Given the description of an element on the screen output the (x, y) to click on. 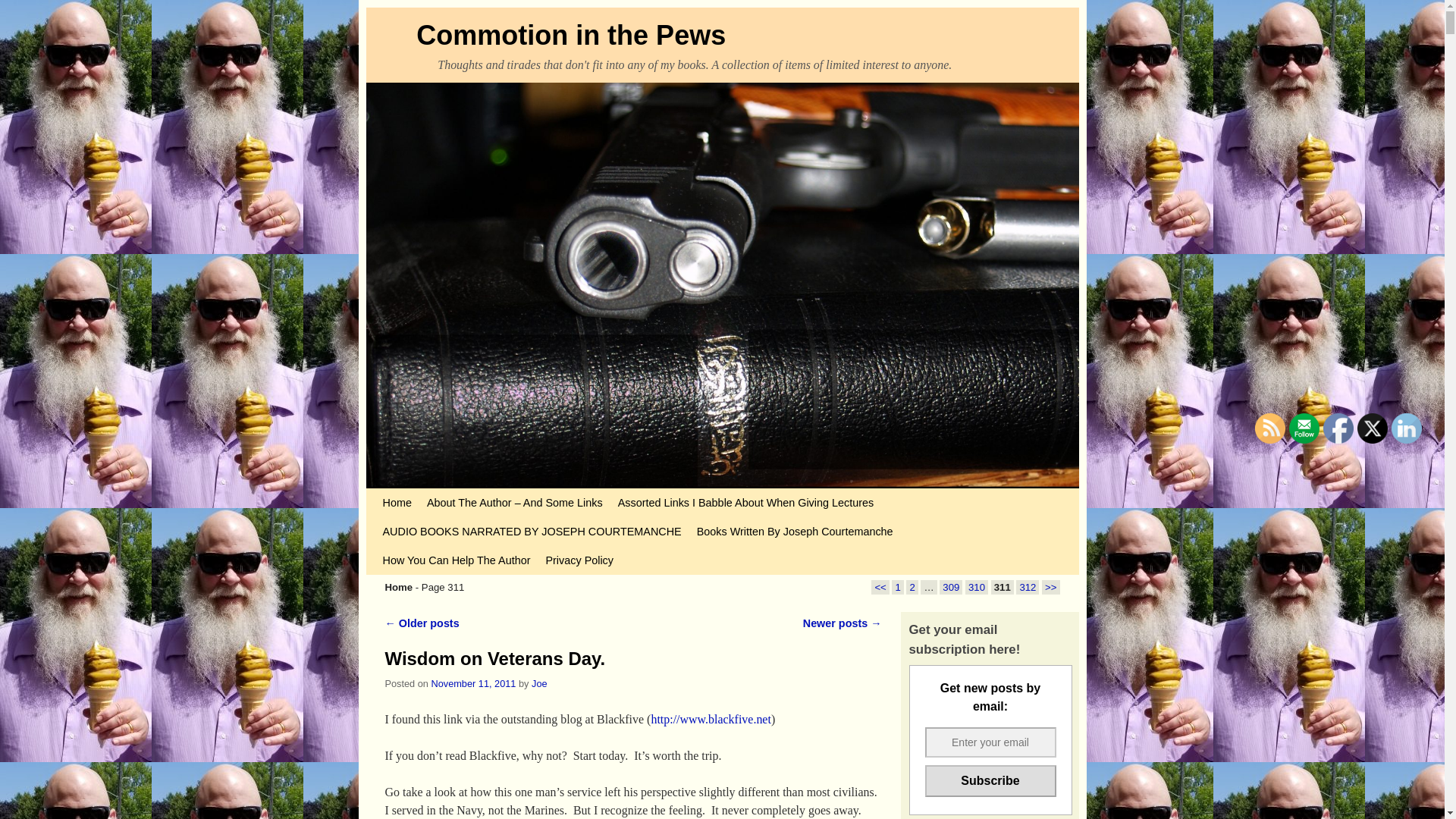
Wisdom on Veterans Day. (495, 658)
How You Can Help The Author (455, 560)
Privacy Policy (579, 560)
309 (950, 586)
November 11, 2011 (472, 683)
View all posts by Joe (539, 683)
Permalink to Wisdom on Veterans Day. (495, 658)
Commotion in the Pews (570, 34)
310 (976, 586)
Joe (539, 683)
Home (396, 502)
Subscribe (990, 780)
Skip to secondary content (412, 495)
AUDIO BOOKS NARRATED BY JOSEPH COURTEMANCHE (531, 531)
Commotion in the Pews (570, 34)
